Given the description of an element on the screen output the (x, y) to click on. 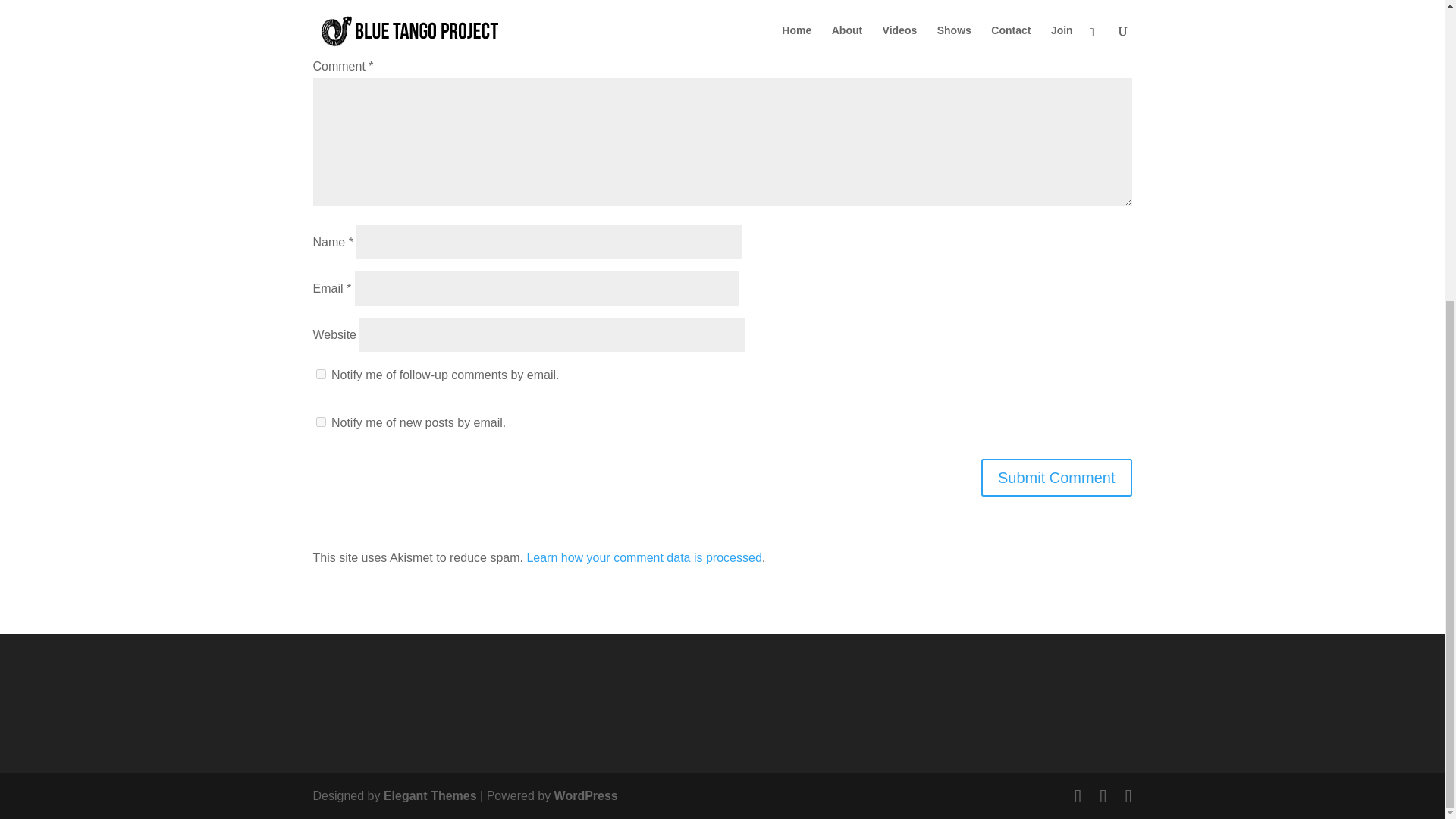
Learn how your comment data is processed (643, 557)
Submit Comment (1056, 477)
WordPress (585, 795)
Submit Comment (1056, 477)
subscribe (319, 374)
Elegant Themes (430, 795)
subscribe (319, 421)
Premium WordPress Themes (430, 795)
